Given the description of an element on the screen output the (x, y) to click on. 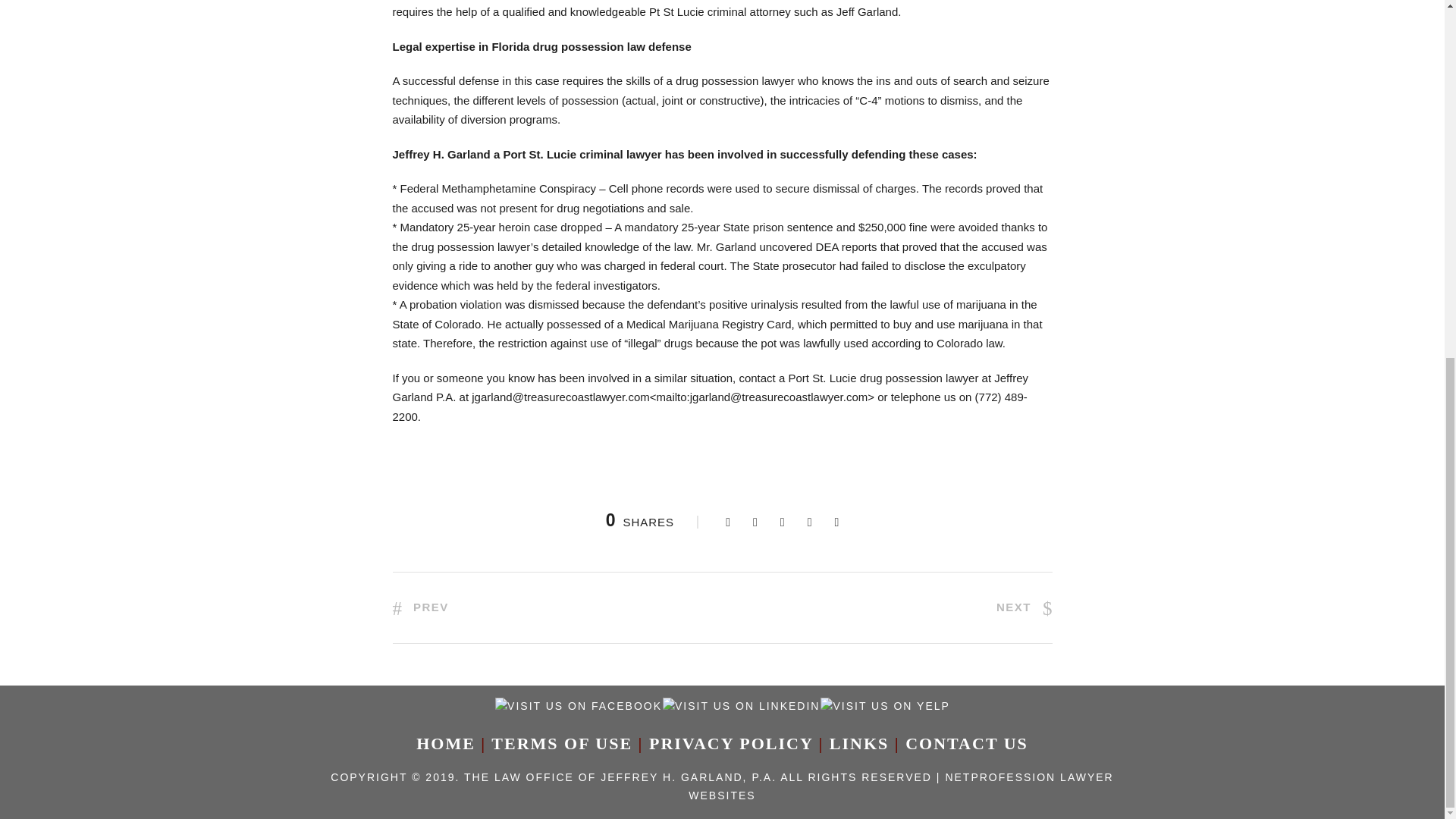
Visit us on Yelp (884, 705)
Visit us on Facebook (578, 705)
Visit us on LinkedIn (740, 705)
